Given the description of an element on the screen output the (x, y) to click on. 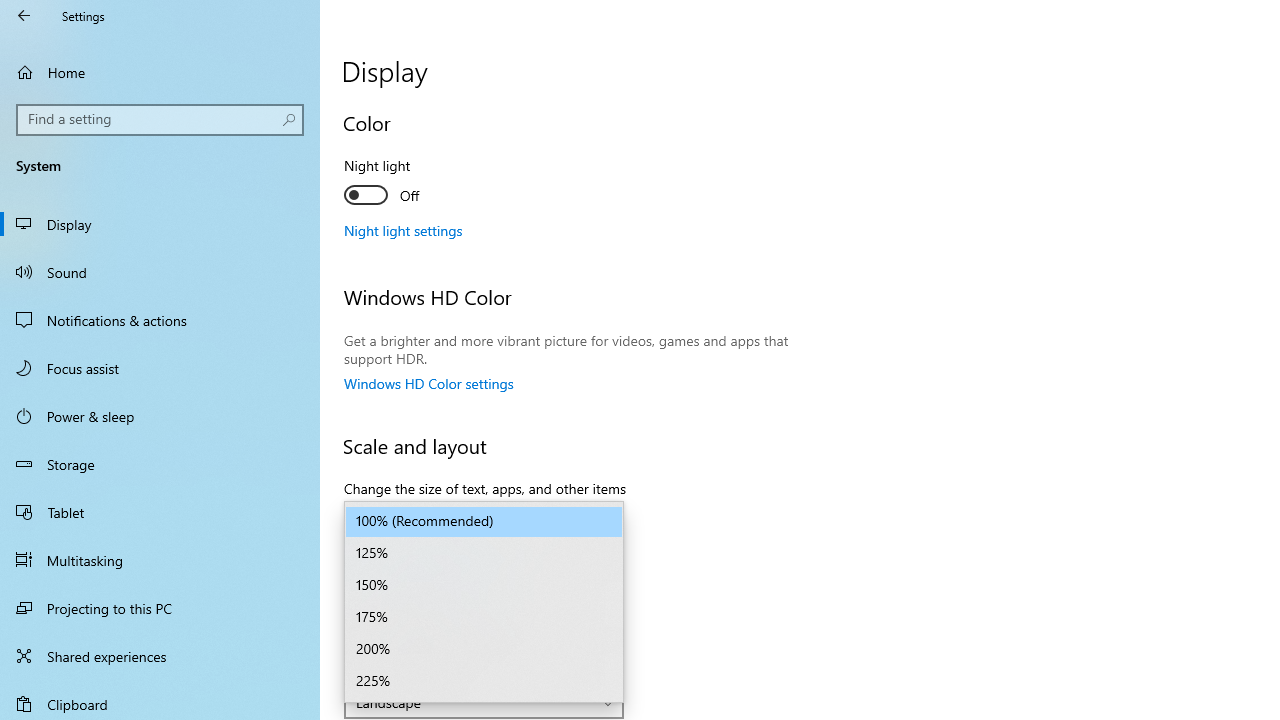
Search box, Find a setting (160, 119)
Home (160, 71)
Multitasking (160, 559)
Projecting to this PC (160, 607)
Night light (417, 183)
200% (484, 650)
Display (160, 223)
Windows HD Color settings (429, 383)
175% (484, 617)
Advanced scaling settings (424, 559)
225% (484, 681)
Shared experiences (160, 655)
Night light settings (403, 230)
100% (Recommended) (484, 521)
